Given the description of an element on the screen output the (x, y) to click on. 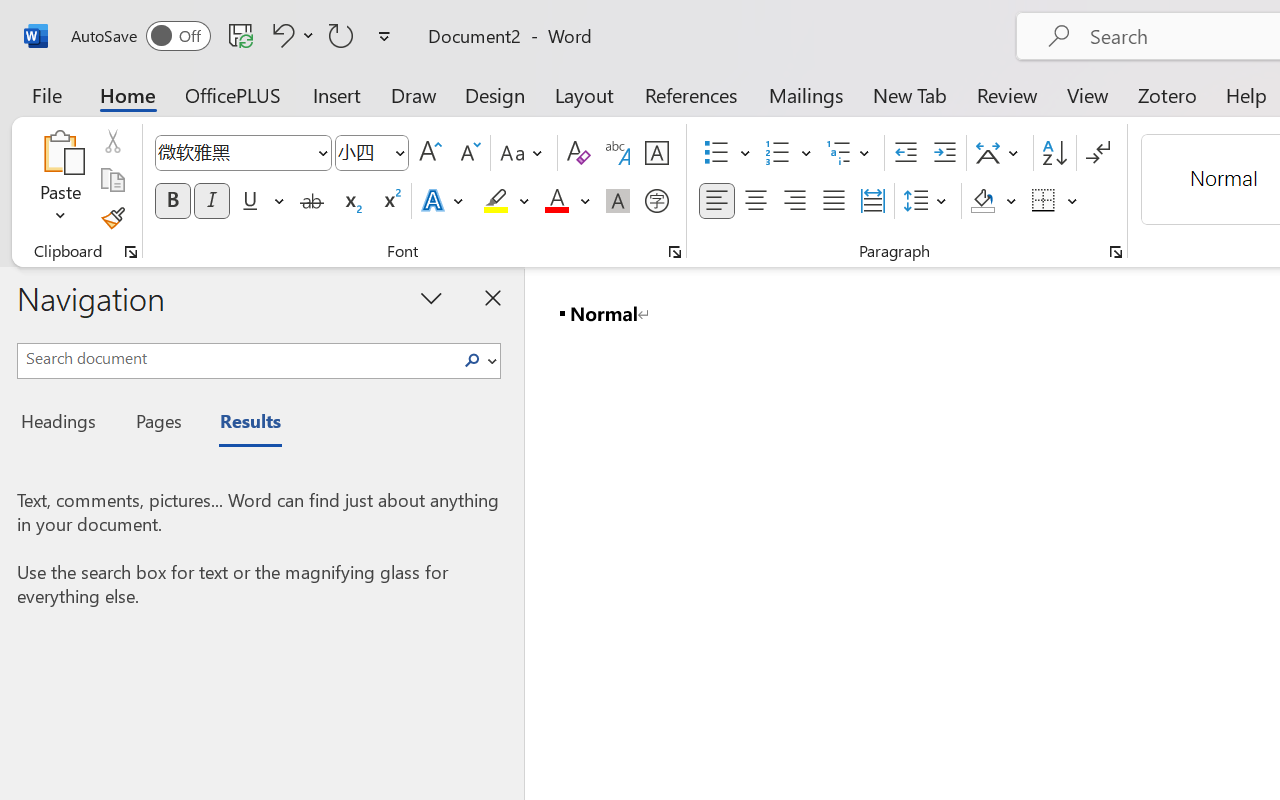
Decrease Indent (906, 153)
Format Painter (112, 218)
Paragraph... (1115, 252)
Center (756, 201)
Underline (261, 201)
Undo Style (290, 35)
Customize Quick Access Toolbar (384, 35)
Character Shading (618, 201)
Bullets (716, 153)
Search (471, 360)
Borders (1055, 201)
Character Border (656, 153)
Font Size (372, 153)
Layout (584, 94)
